Given the description of an element on the screen output the (x, y) to click on. 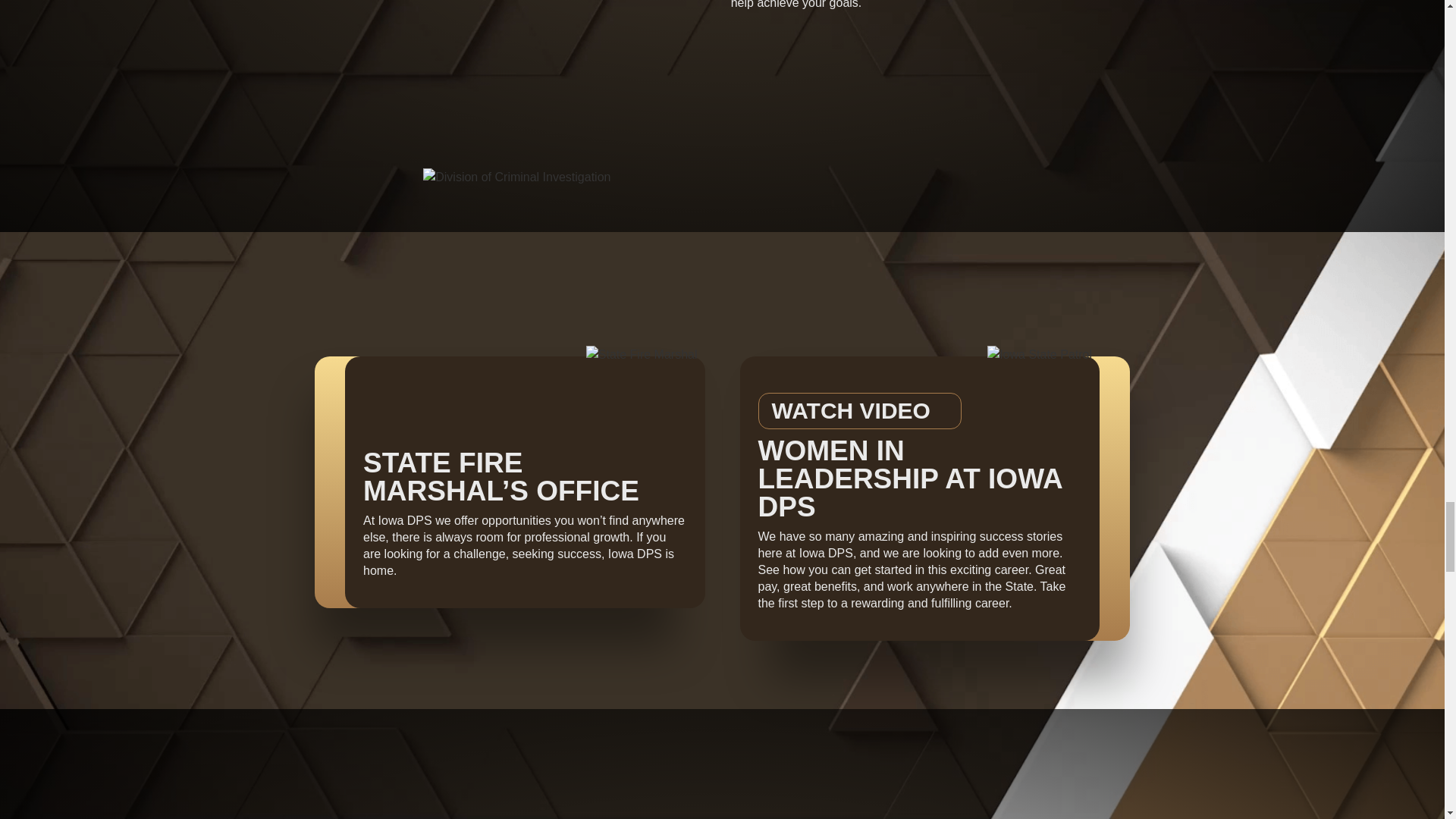
WATCH VIDEO (859, 411)
Division of Criminal Investigation (516, 177)
